Given the description of an element on the screen output the (x, y) to click on. 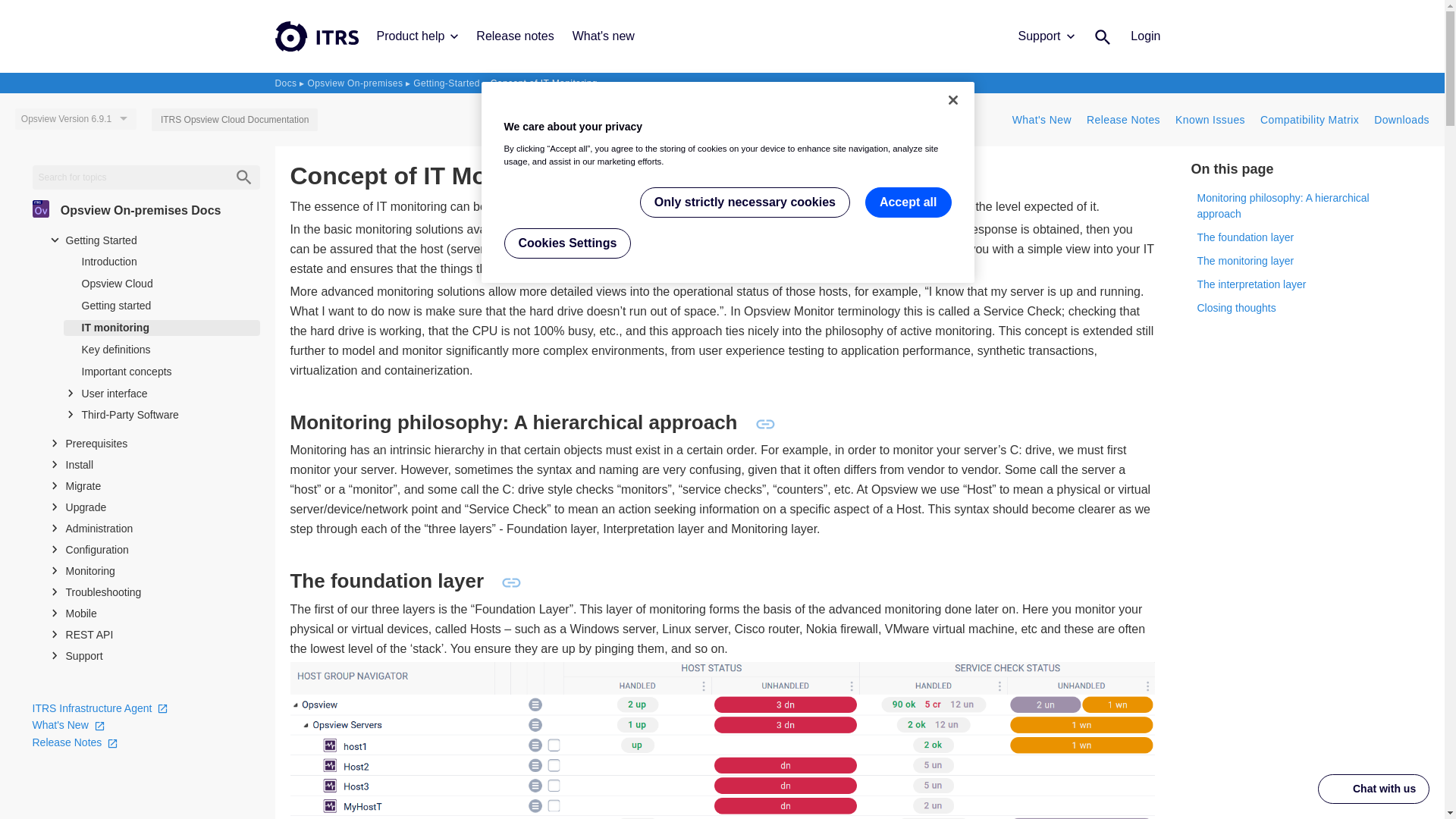
ITRS homepage (316, 36)
Known Issues (1209, 119)
Login (1145, 36)
Introduction (162, 261)
Opsview Cloud (162, 283)
Downloads (1401, 119)
Link to this section (511, 580)
ITRS Opsview Cloud Documentation (234, 119)
